Given the description of an element on the screen output the (x, y) to click on. 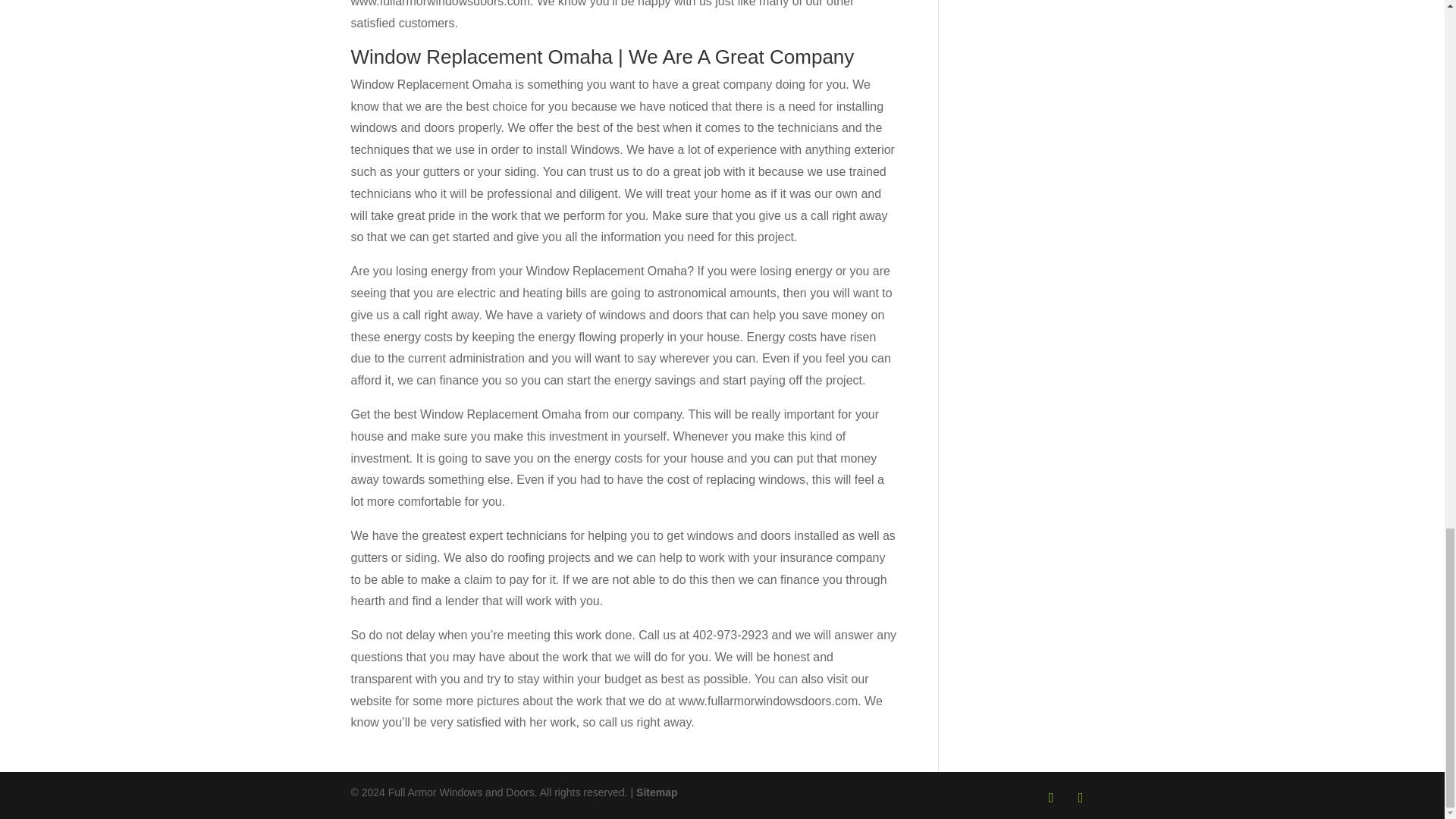
Sitemap (656, 792)
